Given the description of an element on the screen output the (x, y) to click on. 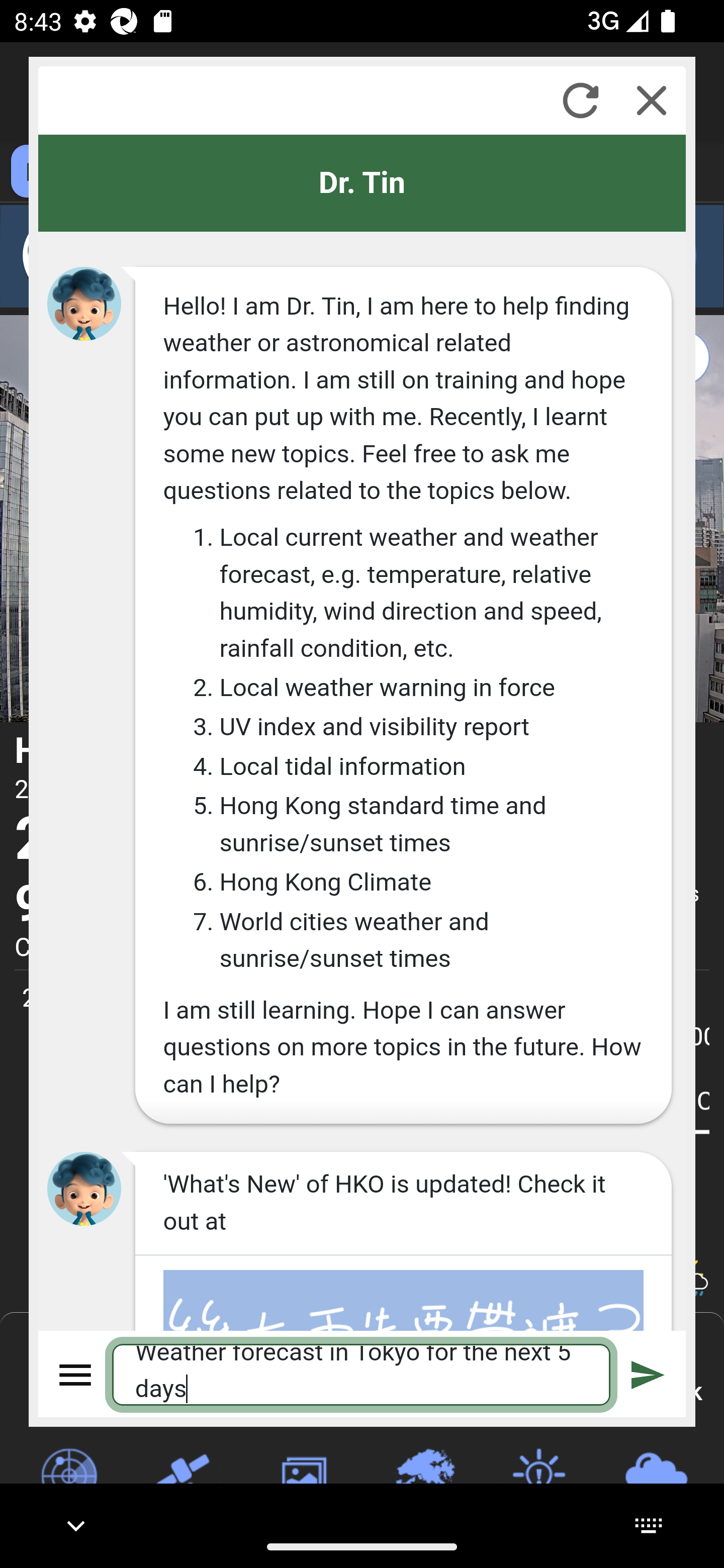
Refresh (580, 100)
Close (651, 100)
Menu (75, 1374)
Submit (648, 1374)
Weather forecast in Tokyo for the next 5 days (361, 1374)
